Given the description of an element on the screen output the (x, y) to click on. 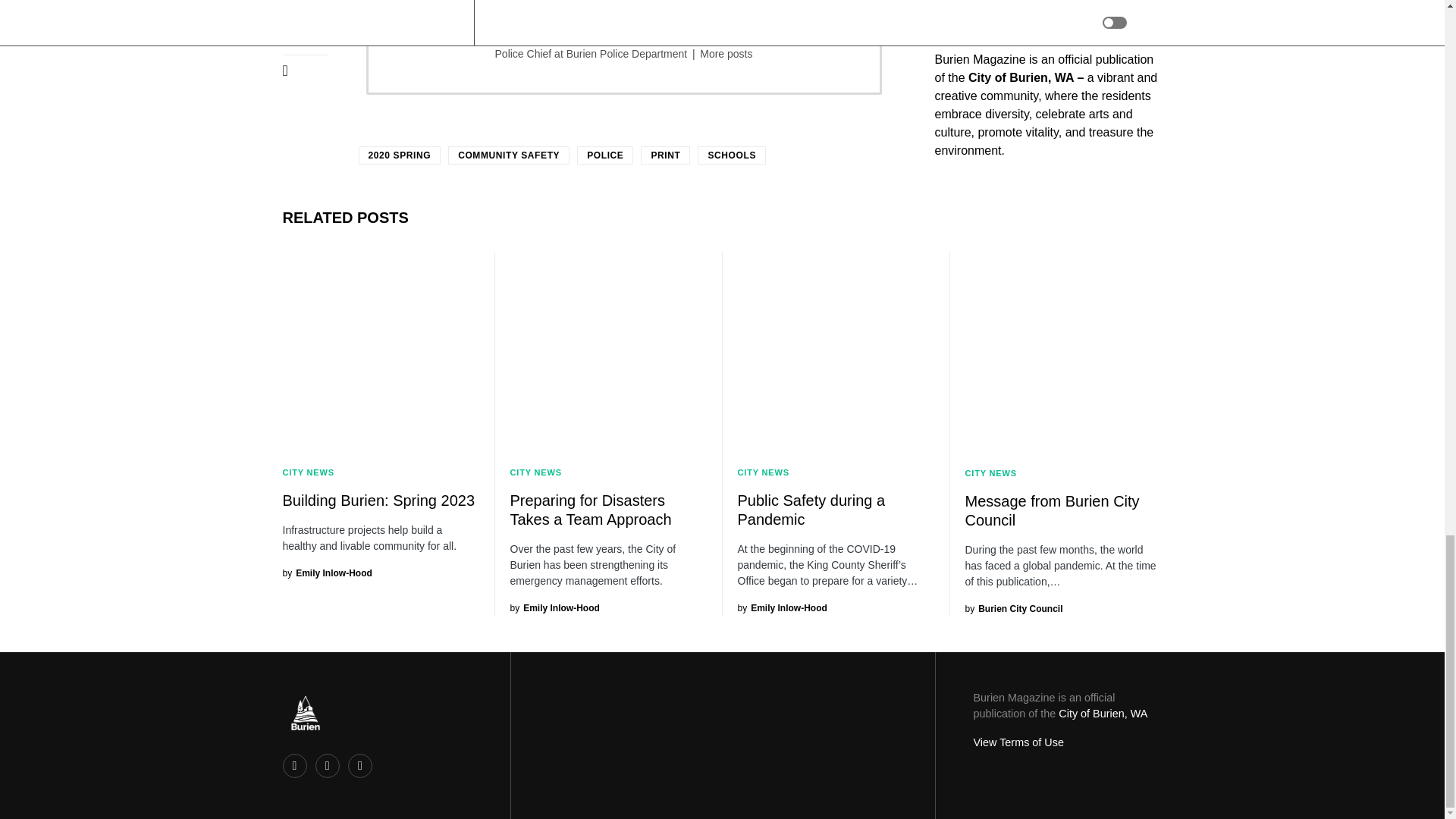
View all posts by Emily Inlow-Hood (553, 608)
View all posts by Burien City Council (1012, 608)
View all posts by Emily Inlow-Hood (326, 572)
View all posts by Emily Inlow-Hood (781, 608)
